Given the description of an element on the screen output the (x, y) to click on. 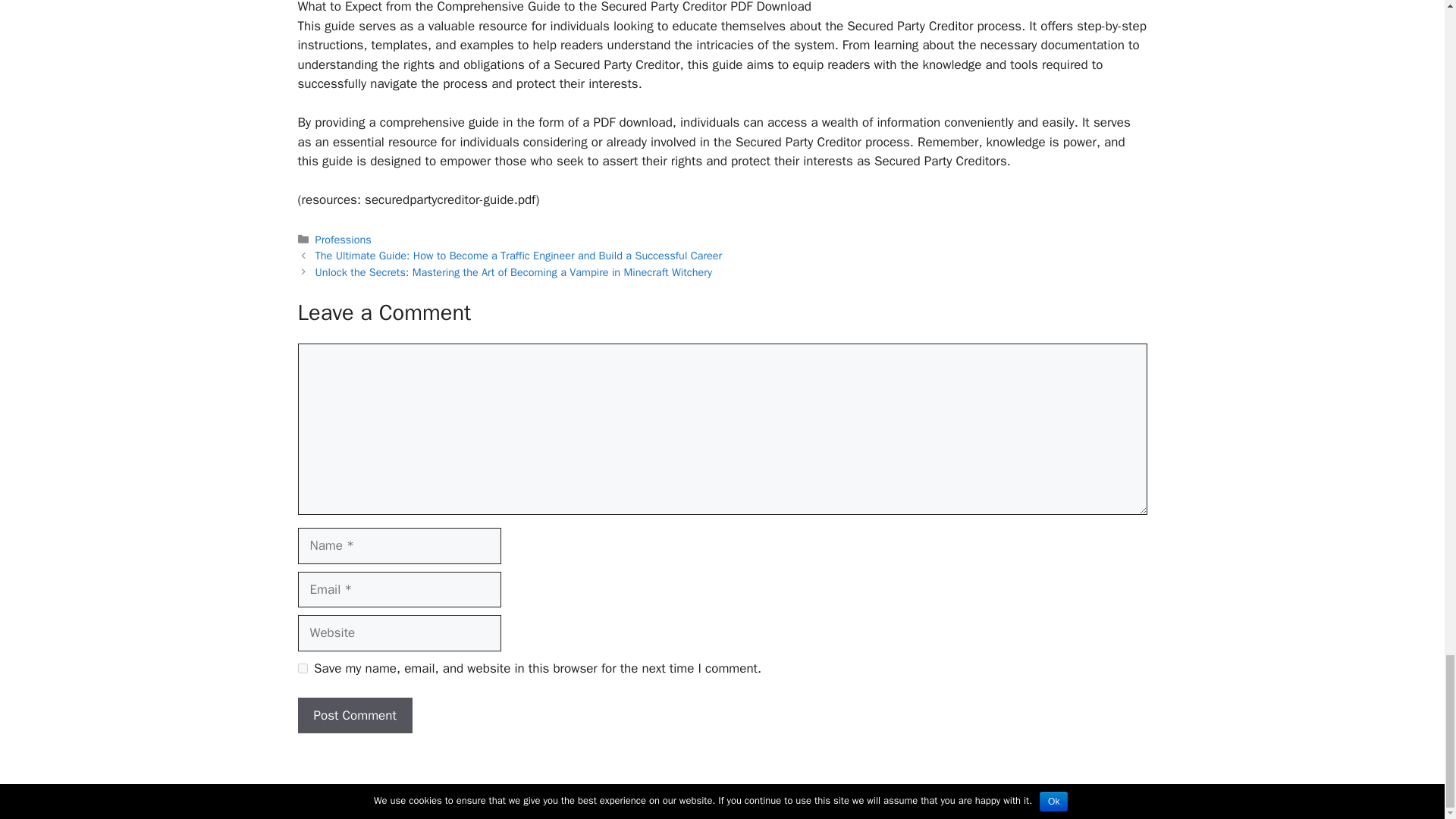
yes (302, 668)
Next (513, 272)
Post Comment (354, 715)
Howbecome.net (645, 794)
Legal notice (728, 794)
Professions (343, 239)
Previous (518, 255)
Cookies policy (804, 794)
